Given the description of an element on the screen output the (x, y) to click on. 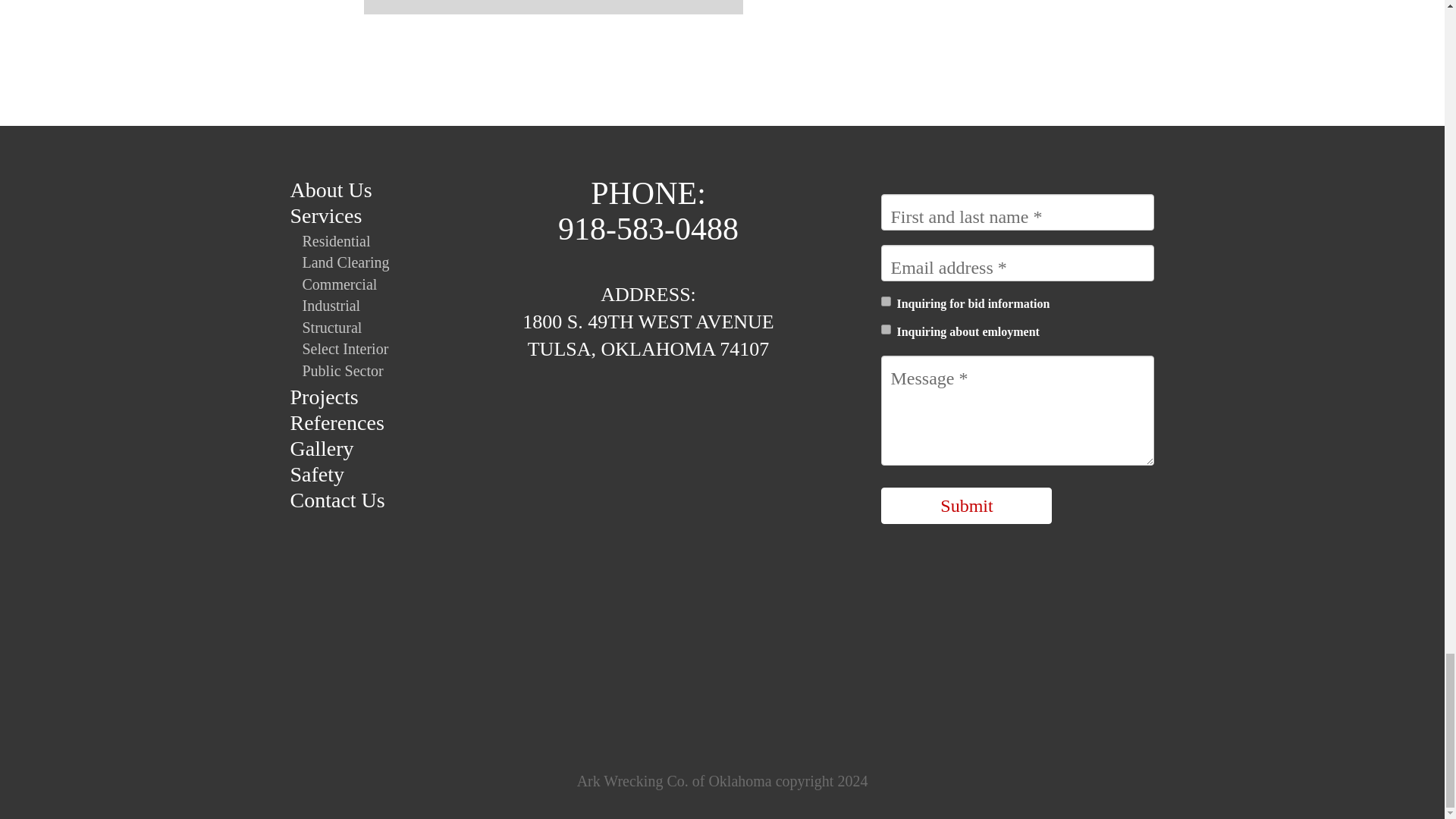
Inquiring for bid information (885, 301)
Inquiring about emloyment (885, 329)
Submit (965, 505)
